Given the description of an element on the screen output the (x, y) to click on. 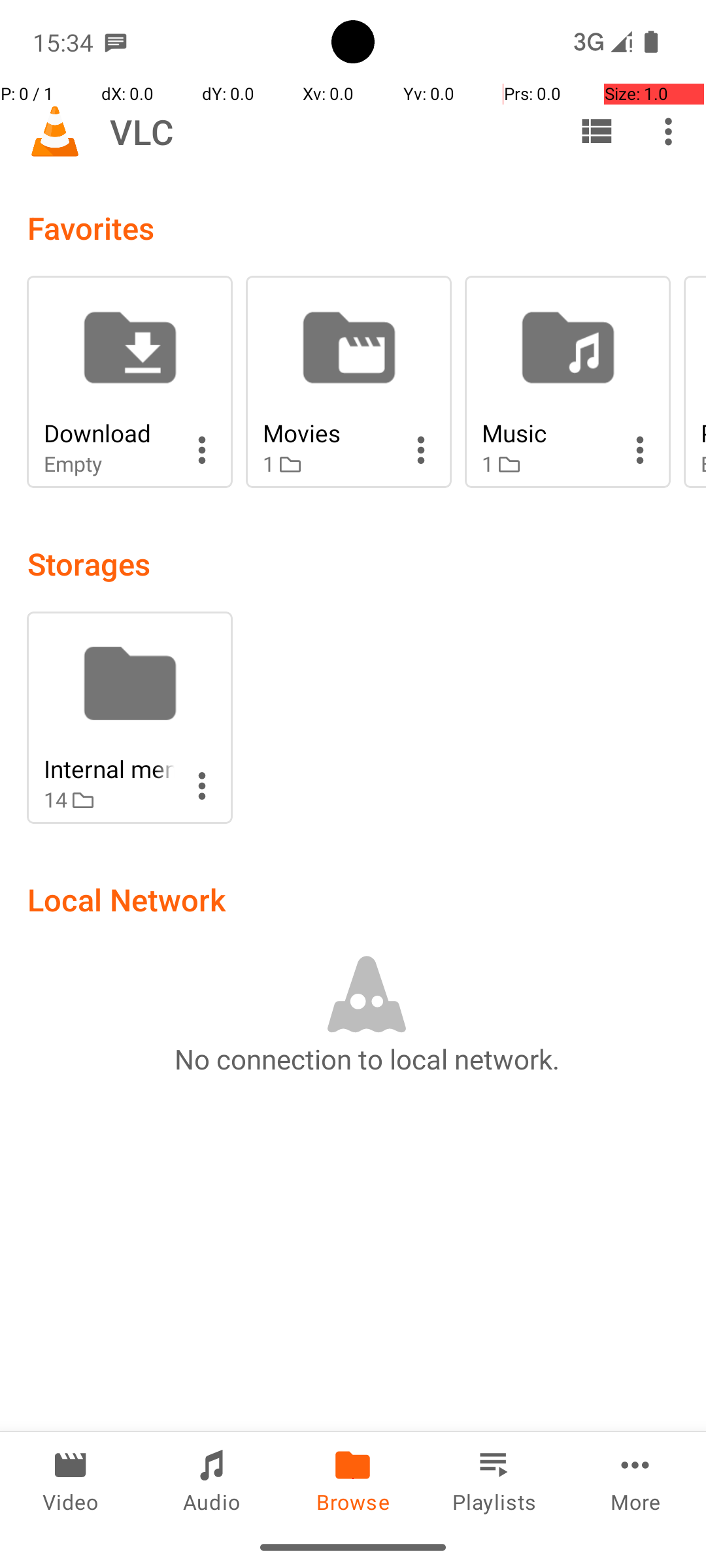
Display in list Element type: android.widget.TextView (595, 131)
Storages Element type: android.widget.TextView (88, 563)
Local Network Element type: android.widget.TextView (126, 898)
No connection to local network. Element type: android.widget.TextView (366, 1058)
Favorite: Download, Empty Element type: androidx.cardview.widget.CardView (129, 381)
Favorite: Movies, 1 subfolder Element type: androidx.cardview.widget.CardView (348, 381)
Favorite: Music, 1 subfolder Element type: androidx.cardview.widget.CardView (567, 381)
Favorite: Podcasts, Empty Element type: androidx.cardview.widget.CardView (694, 381)
Folder: Internal memory, 14 subfolders Element type: androidx.cardview.widget.CardView (129, 717)
Empty Element type: android.widget.TextView (108, 463)
More Actions Element type: android.widget.ImageView (201, 449)
Movies Element type: android.widget.TextView (327, 432)
1 §*§ Element type: android.widget.TextView (327, 463)
Podcasts Element type: android.widget.TextView (703, 432)
Internal memory Element type: android.widget.TextView (108, 768)
14 §*§ Element type: android.widget.TextView (108, 799)
